Given the description of an element on the screen output the (x, y) to click on. 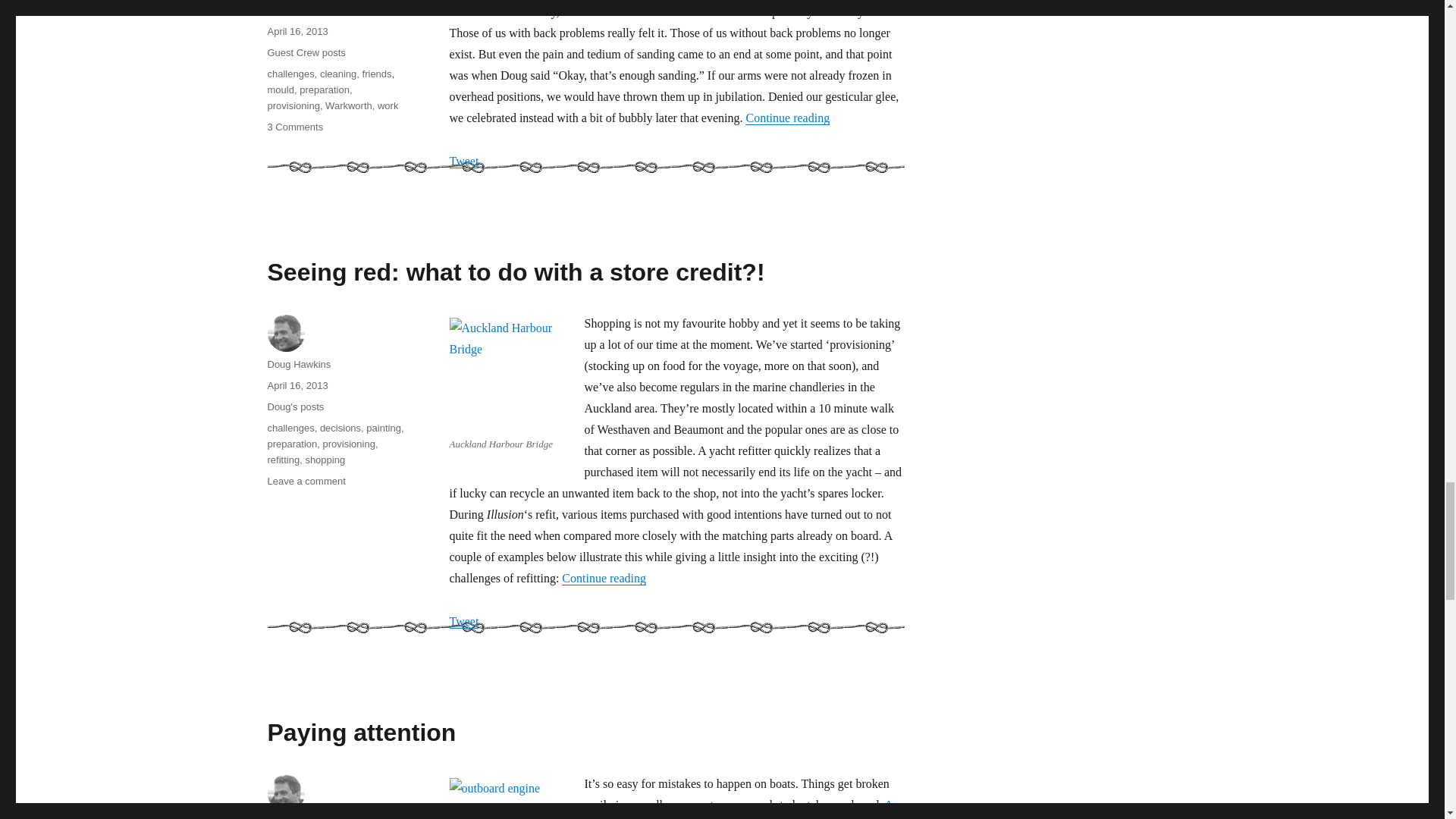
WHat kind of captain is Doug? (740, 808)
